Given the description of an element on the screen output the (x, y) to click on. 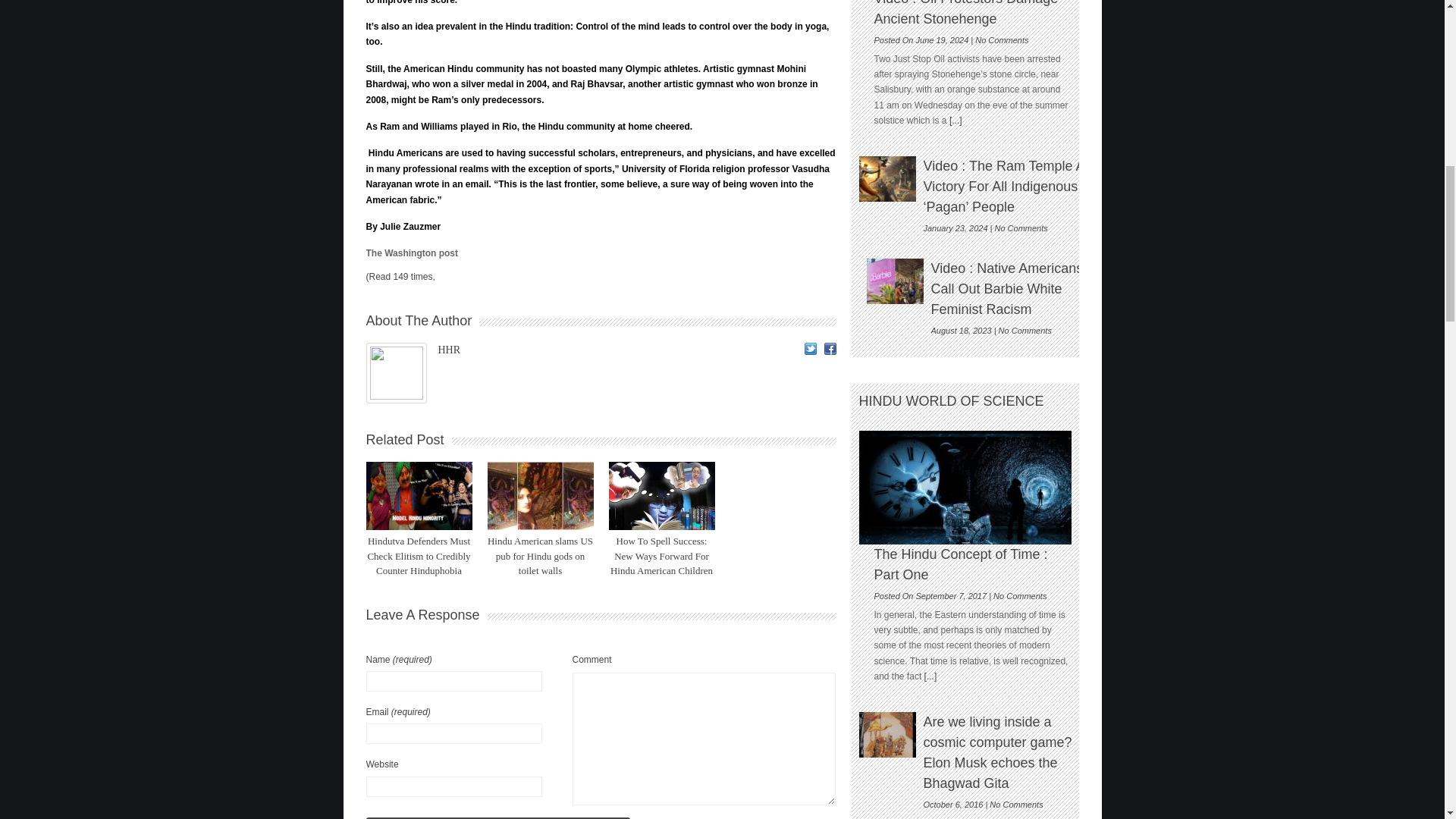
Hindu American slams US pub for Hindu gods on toilet walls (539, 555)
Hindu American slams US pub for Hindu gods on toilet walls (539, 495)
Hindu American slams US pub for Hindu gods on toilet walls (539, 555)
HHR (449, 349)
Posts by HHR (449, 349)
